Given the description of an element on the screen output the (x, y) to click on. 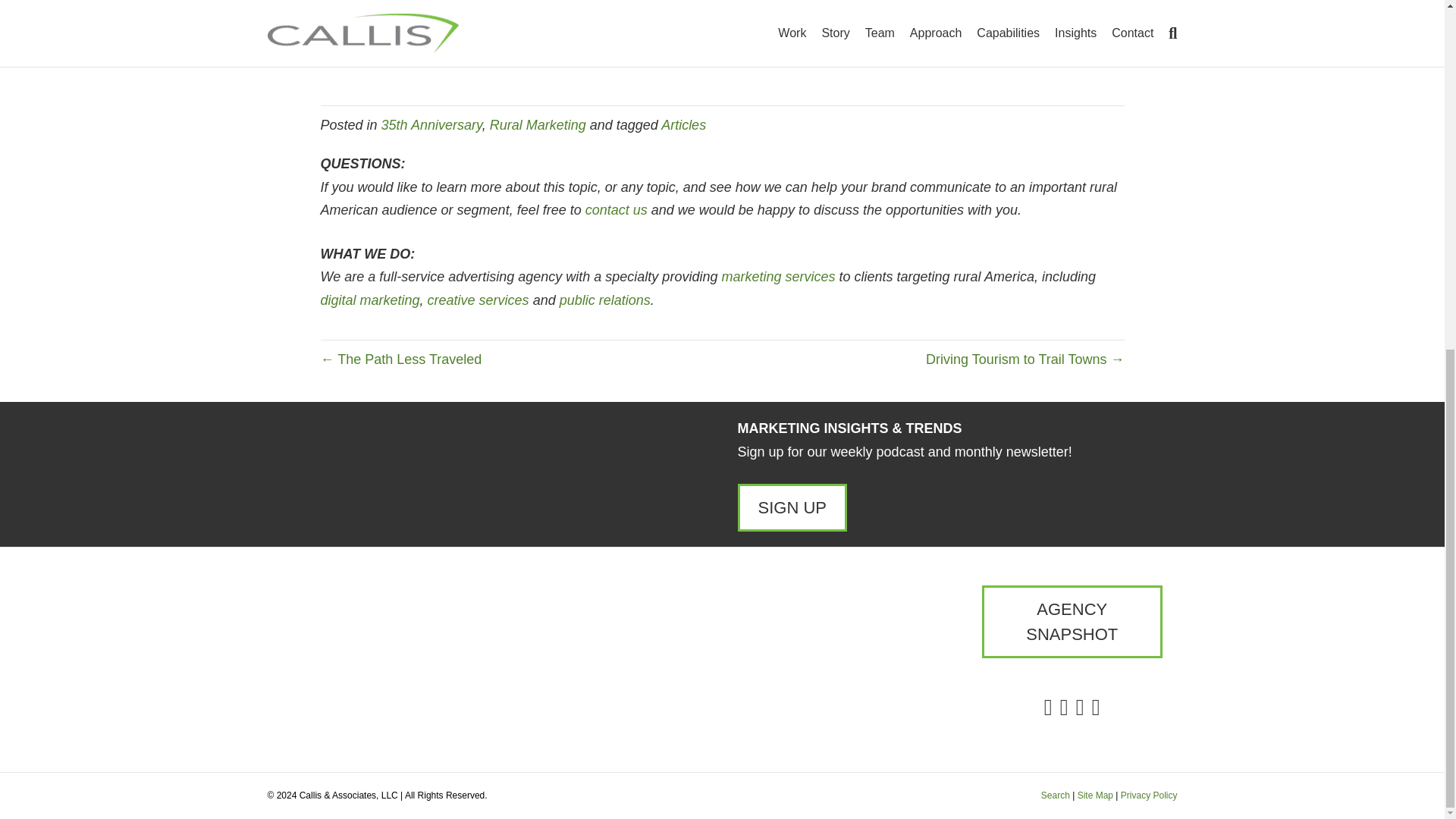
contact us (616, 209)
Rural Marketing (537, 124)
Articles (683, 124)
35th Anniversary (431, 124)
